Given the description of an element on the screen output the (x, y) to click on. 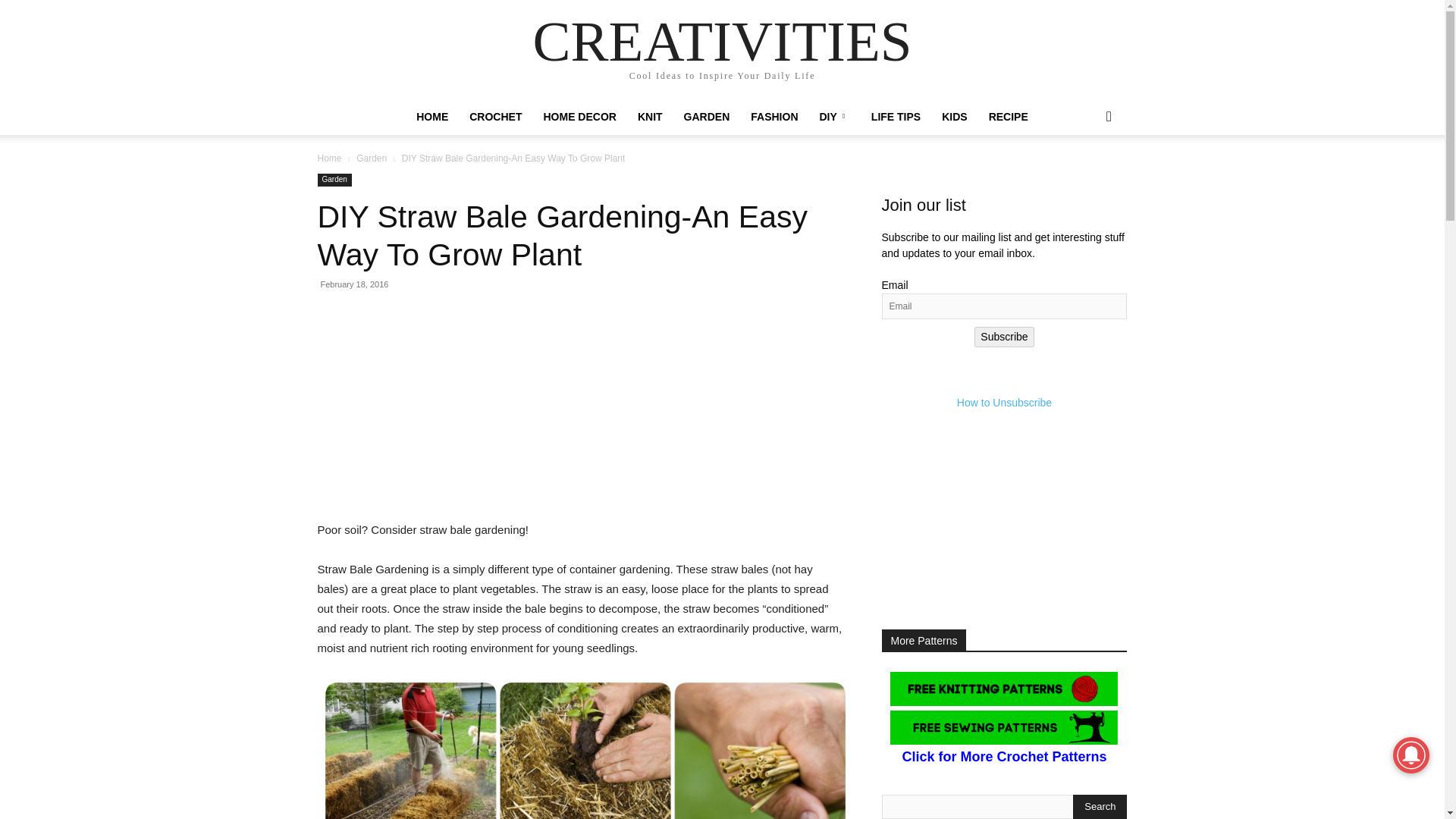
FASHION (773, 116)
Advertisement (580, 413)
CREATIVITIES Cool Ideas to Inspire Your Daily Life (722, 50)
CROCHET (495, 116)
GARDEN (706, 116)
HOME (432, 116)
View all posts in Garden (371, 158)
Search (1099, 806)
DIY (834, 116)
HOME DECOR (579, 116)
KNIT (649, 116)
